Given the description of an element on the screen output the (x, y) to click on. 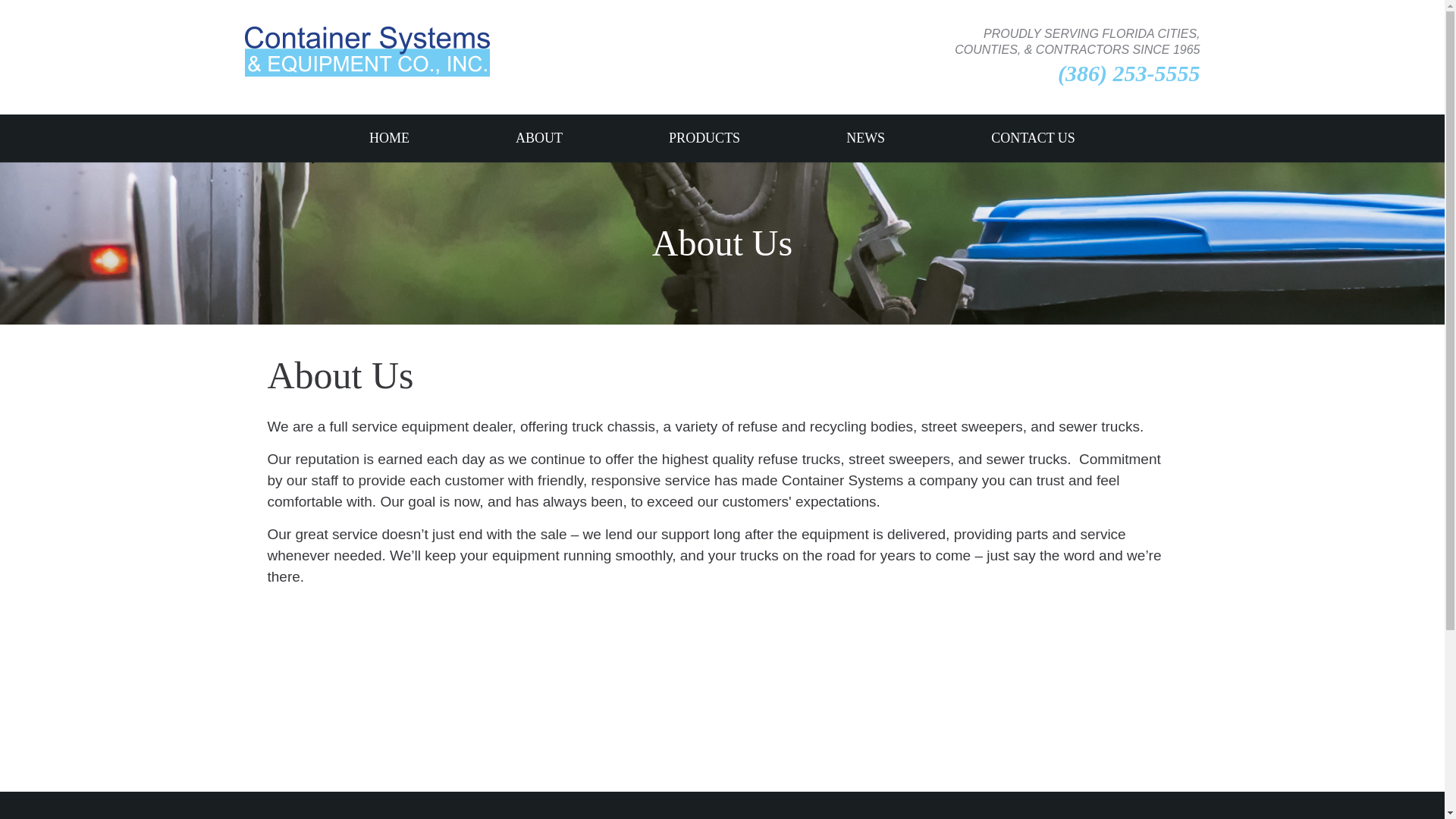
ABOUT (538, 137)
NEWS (865, 137)
PRODUCTS (703, 137)
HOME (389, 137)
CONTACT US (1033, 137)
